Given the description of an element on the screen output the (x, y) to click on. 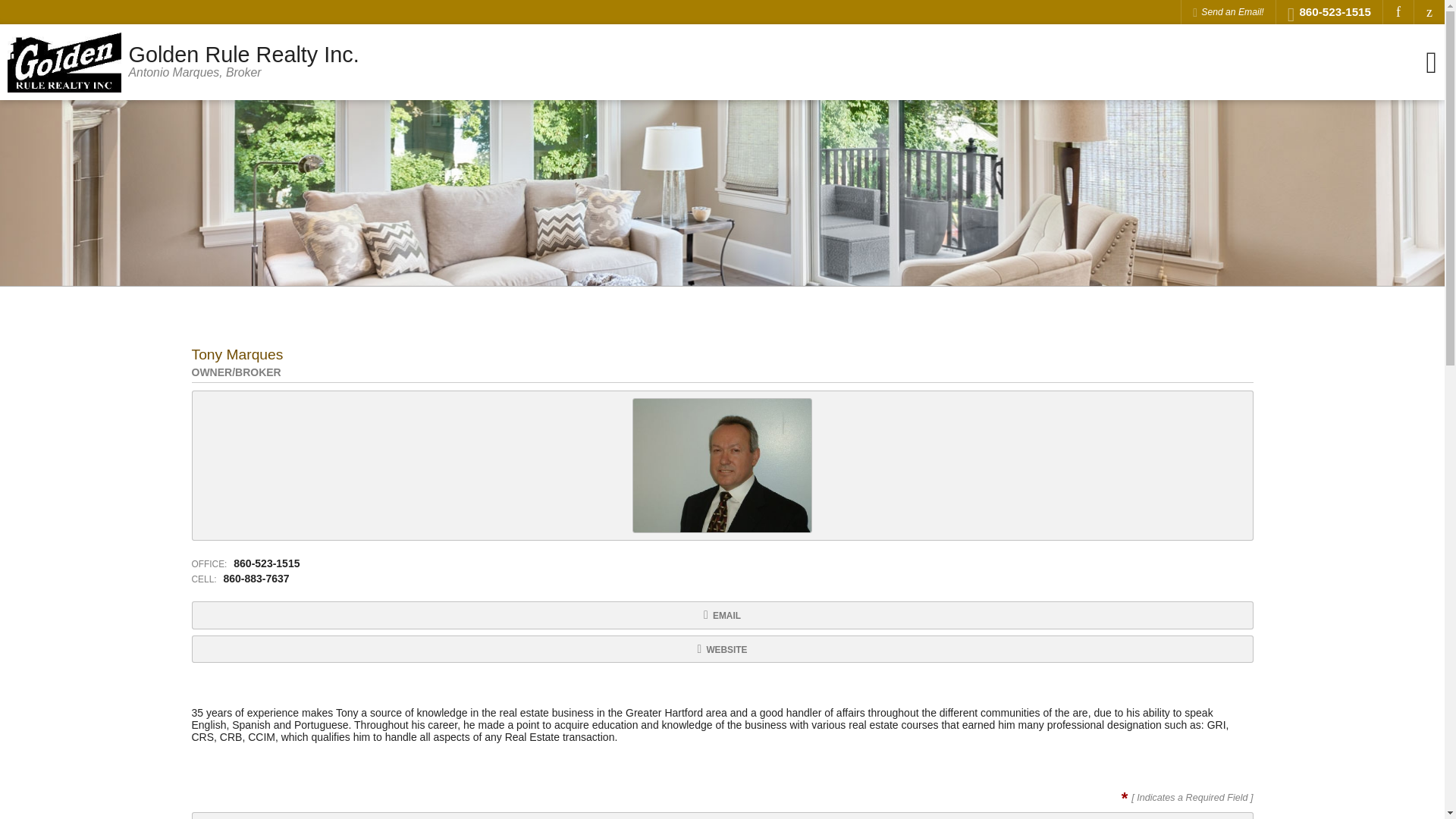
f (1398, 12)
Send an Email! (1227, 12)
Website (183, 61)
Facebook (721, 648)
Email (1398, 12)
